Given the description of an element on the screen output the (x, y) to click on. 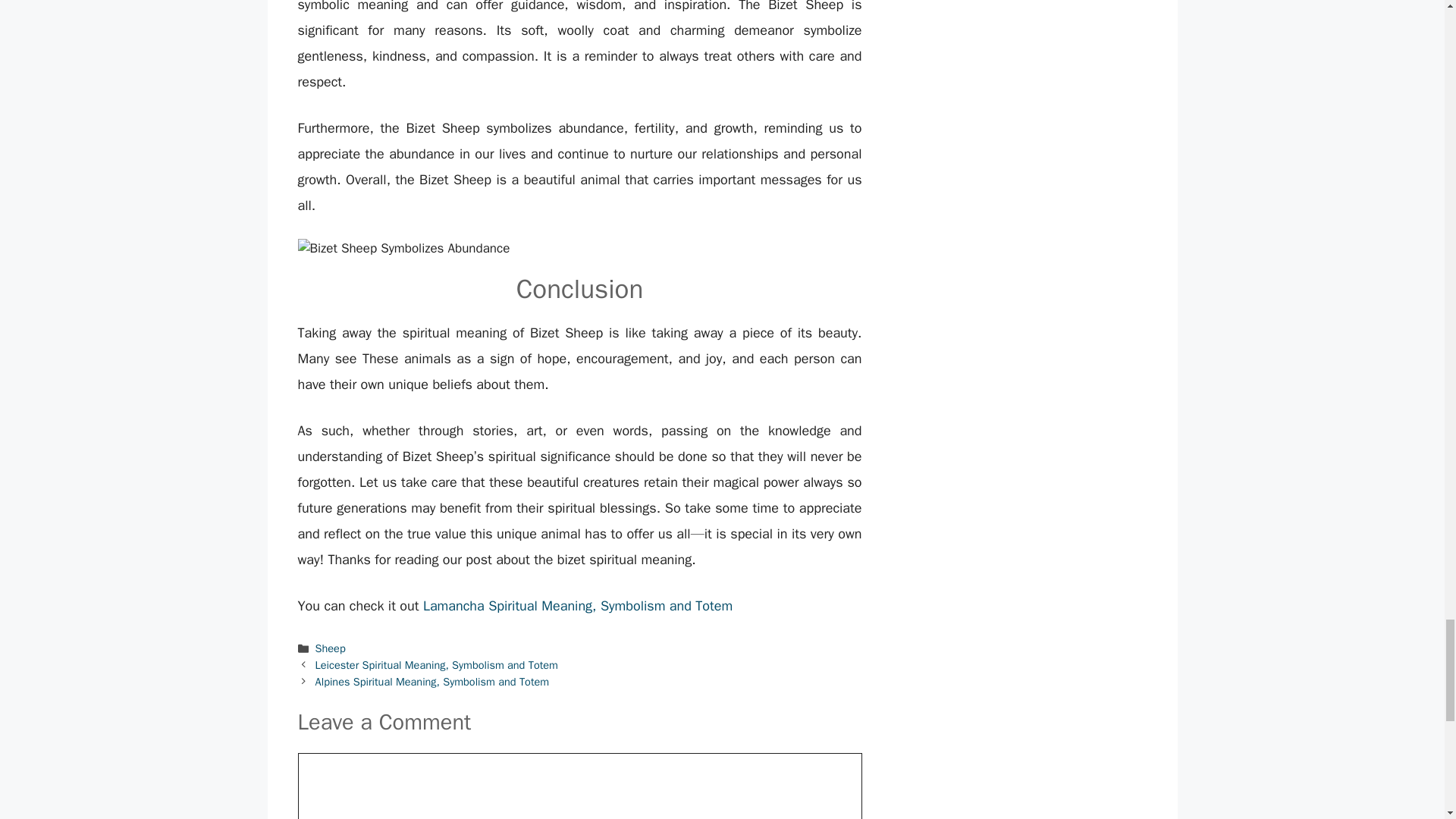
Leicester Spiritual Meaning, Symbolism and Totem (436, 664)
Alpines Spiritual Meaning, Symbolism and Totem (432, 681)
Lamancha Spiritual Meaning, Symbolism and Totem (577, 605)
Sheep (330, 648)
